Given the description of an element on the screen output the (x, y) to click on. 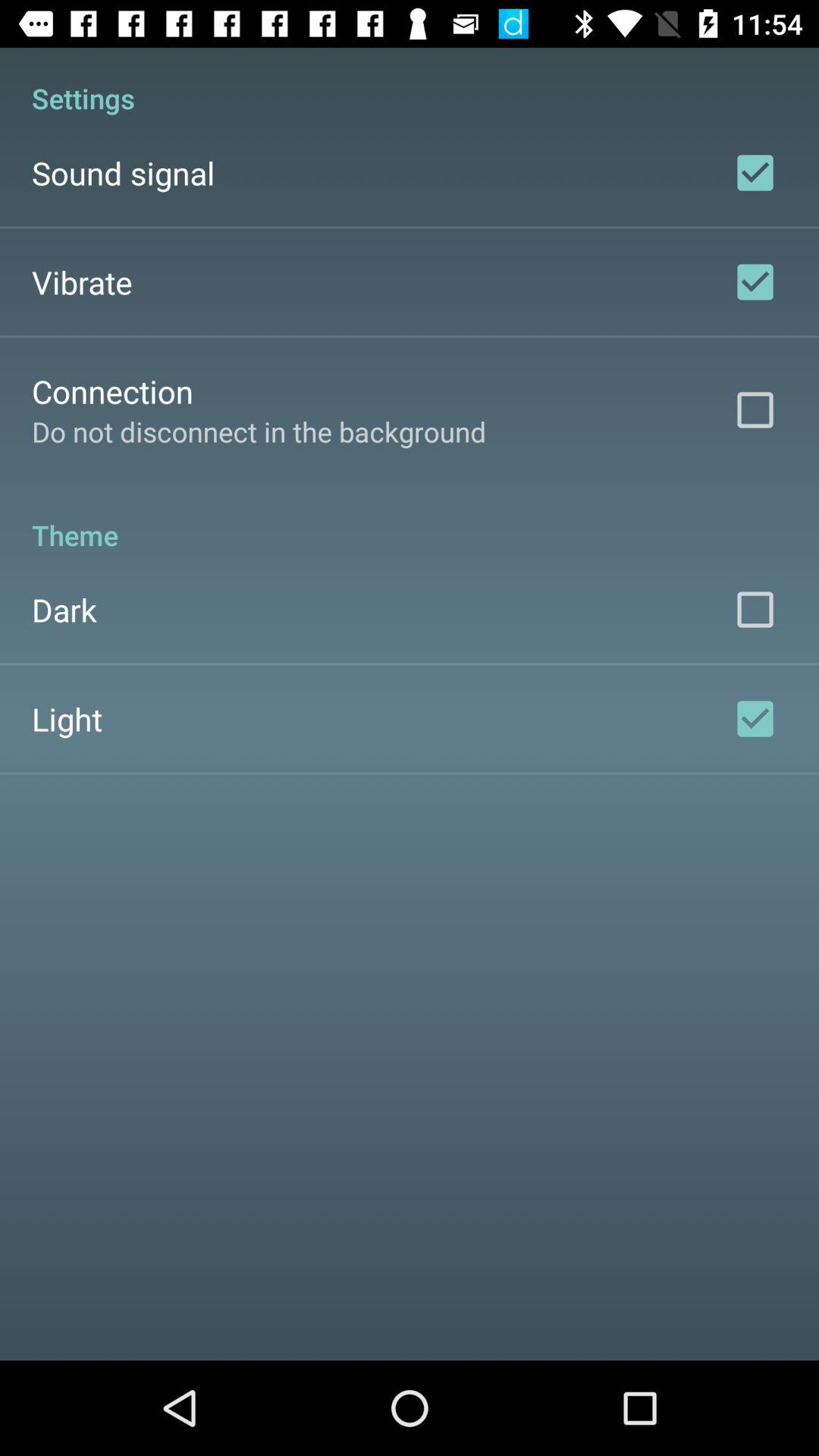
swipe to the light (66, 718)
